Given the description of an element on the screen output the (x, y) to click on. 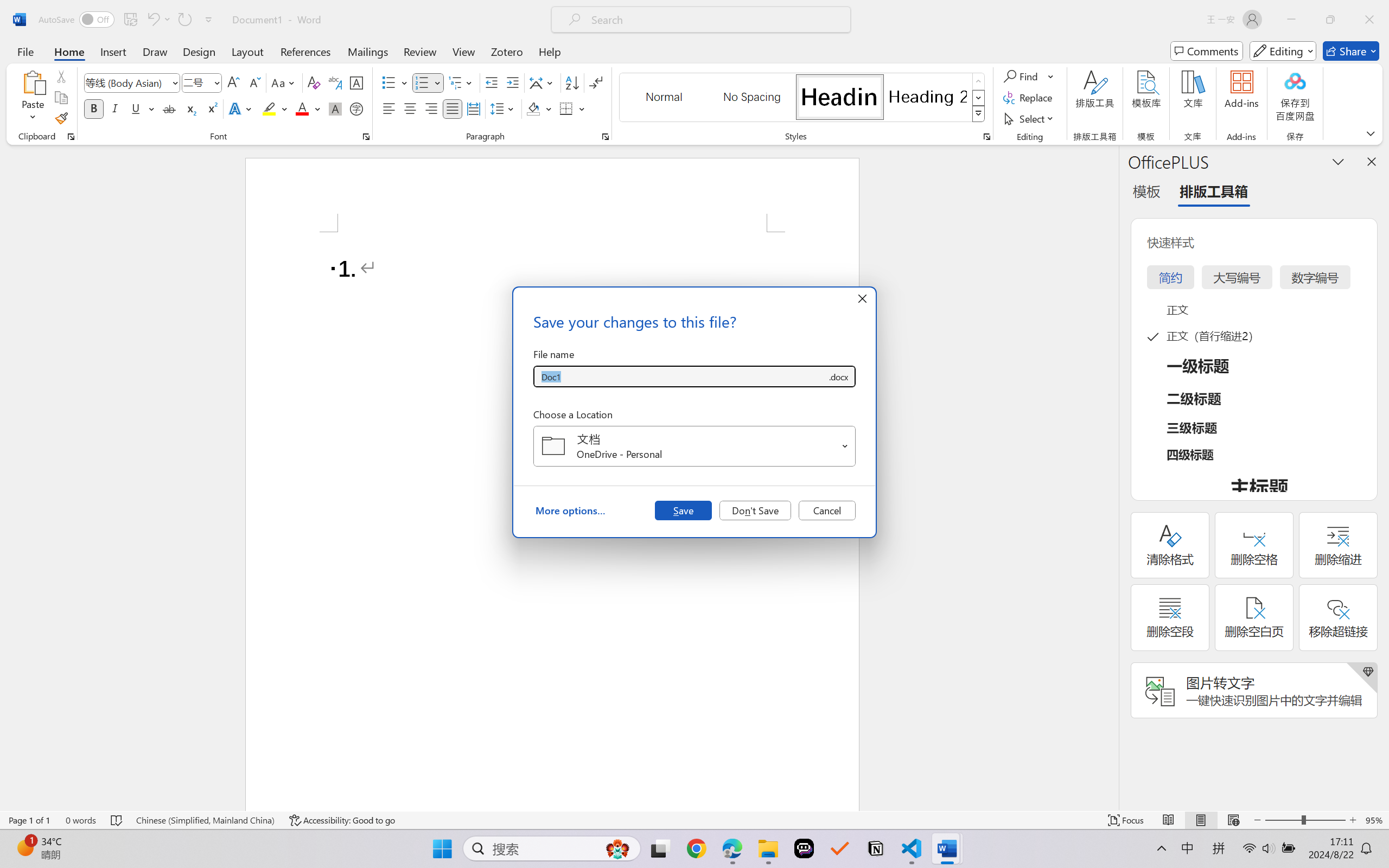
Undo Number Default (158, 19)
Microsoft search (715, 19)
